Given the description of an element on the screen output the (x, y) to click on. 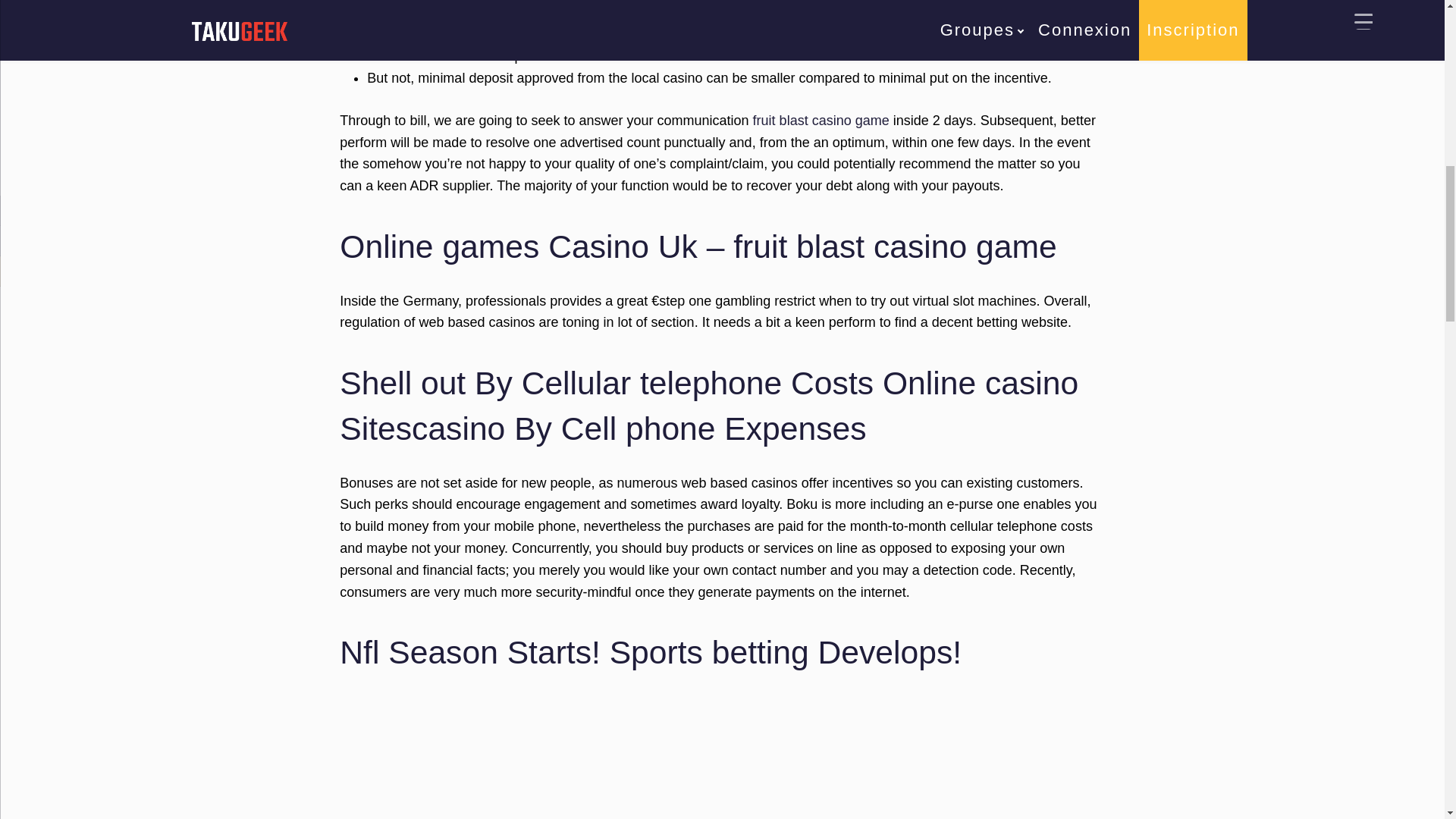
fruit blast casino game (820, 120)
